Given the description of an element on the screen output the (x, y) to click on. 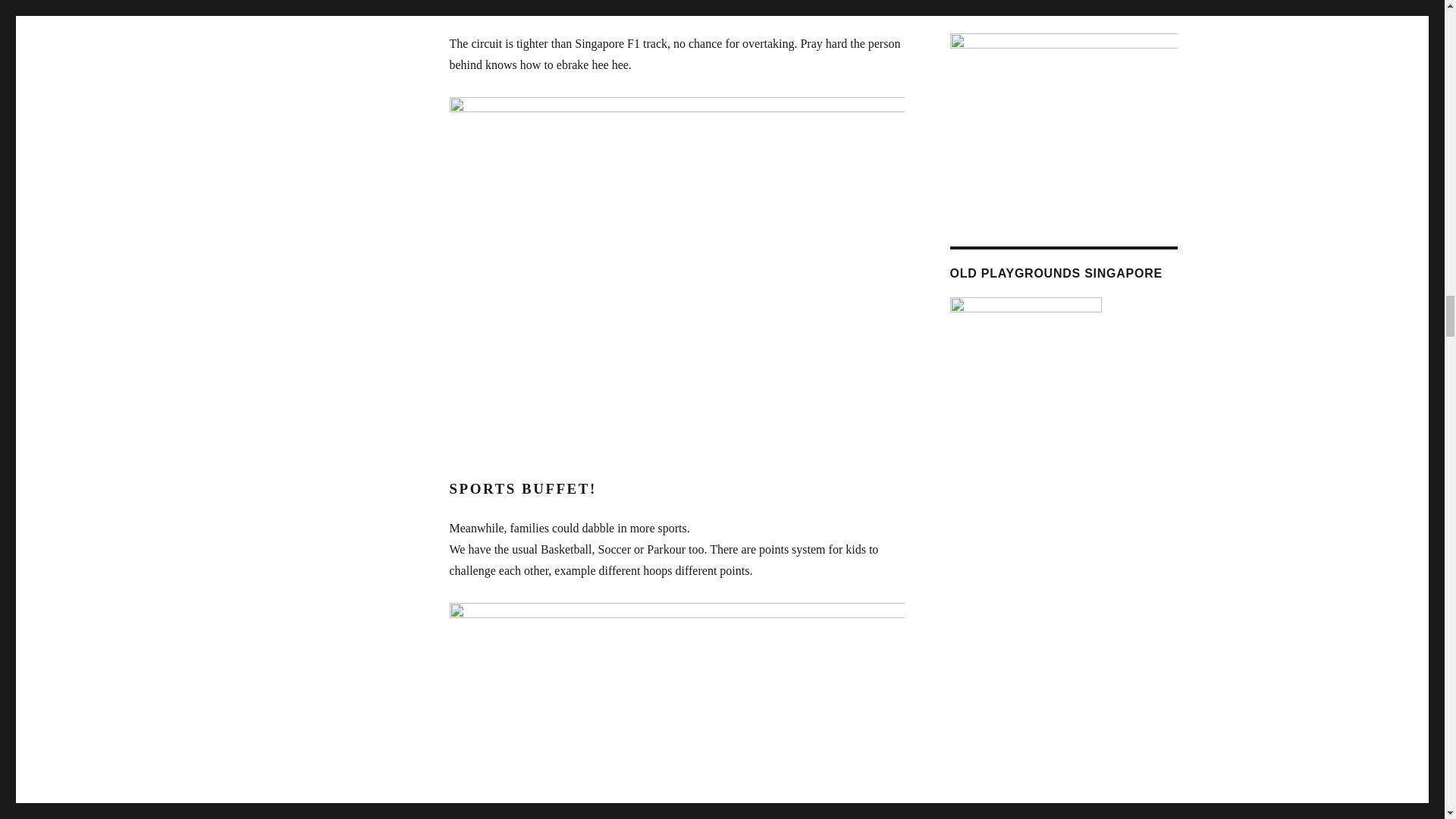
playground memories (1024, 364)
